Given the description of an element on the screen output the (x, y) to click on. 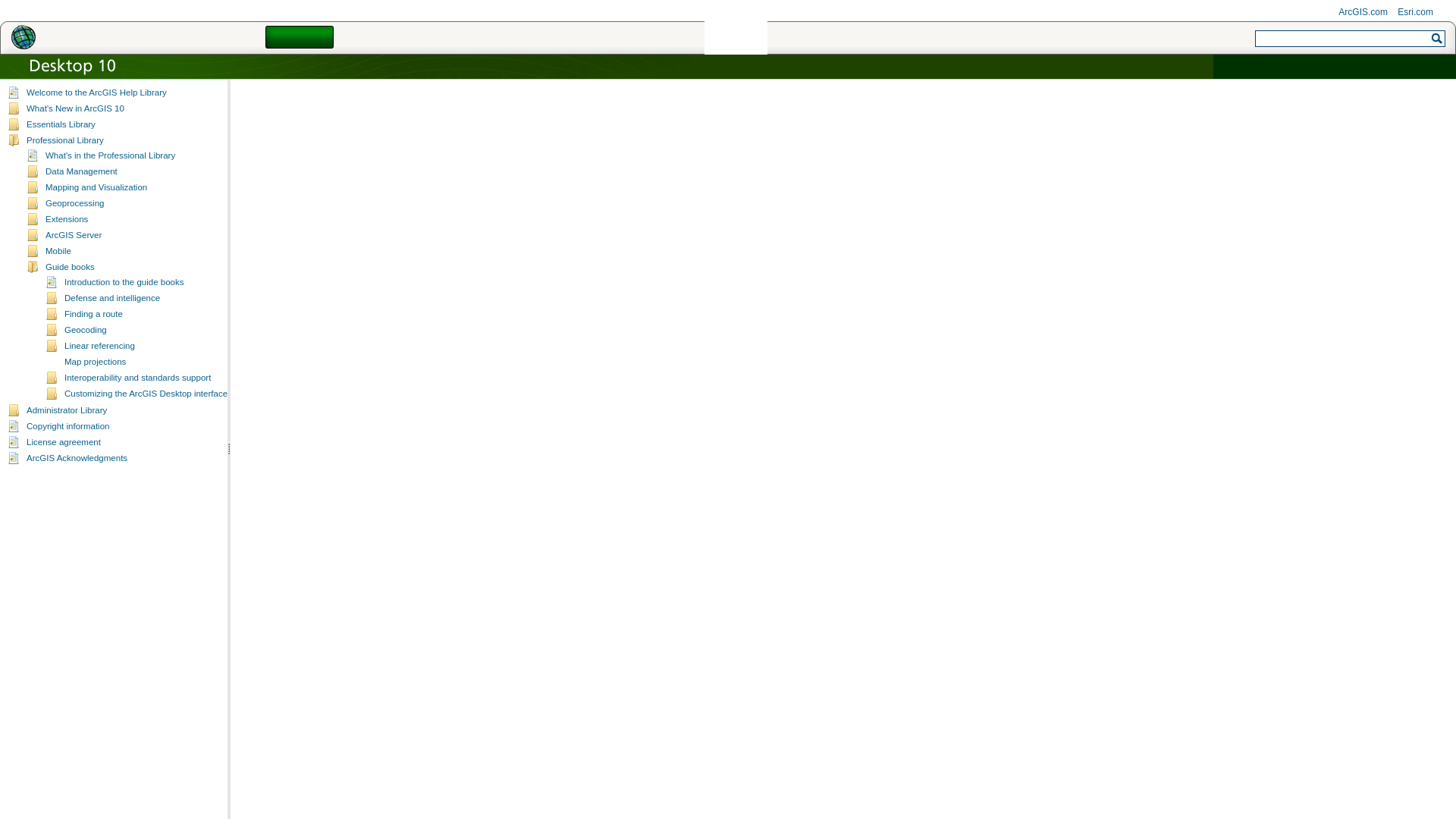
ArcGIS Server (73, 234)
Extensions (66, 218)
search (1436, 38)
Introduction to the guide books (124, 281)
search (1436, 38)
What's in the Professional Library (109, 153)
What's New in ArcGIS 10 (74, 108)
Mapping and Visualization (96, 186)
Mobile (58, 250)
Professional Library (64, 139)
